Given the description of an element on the screen output the (x, y) to click on. 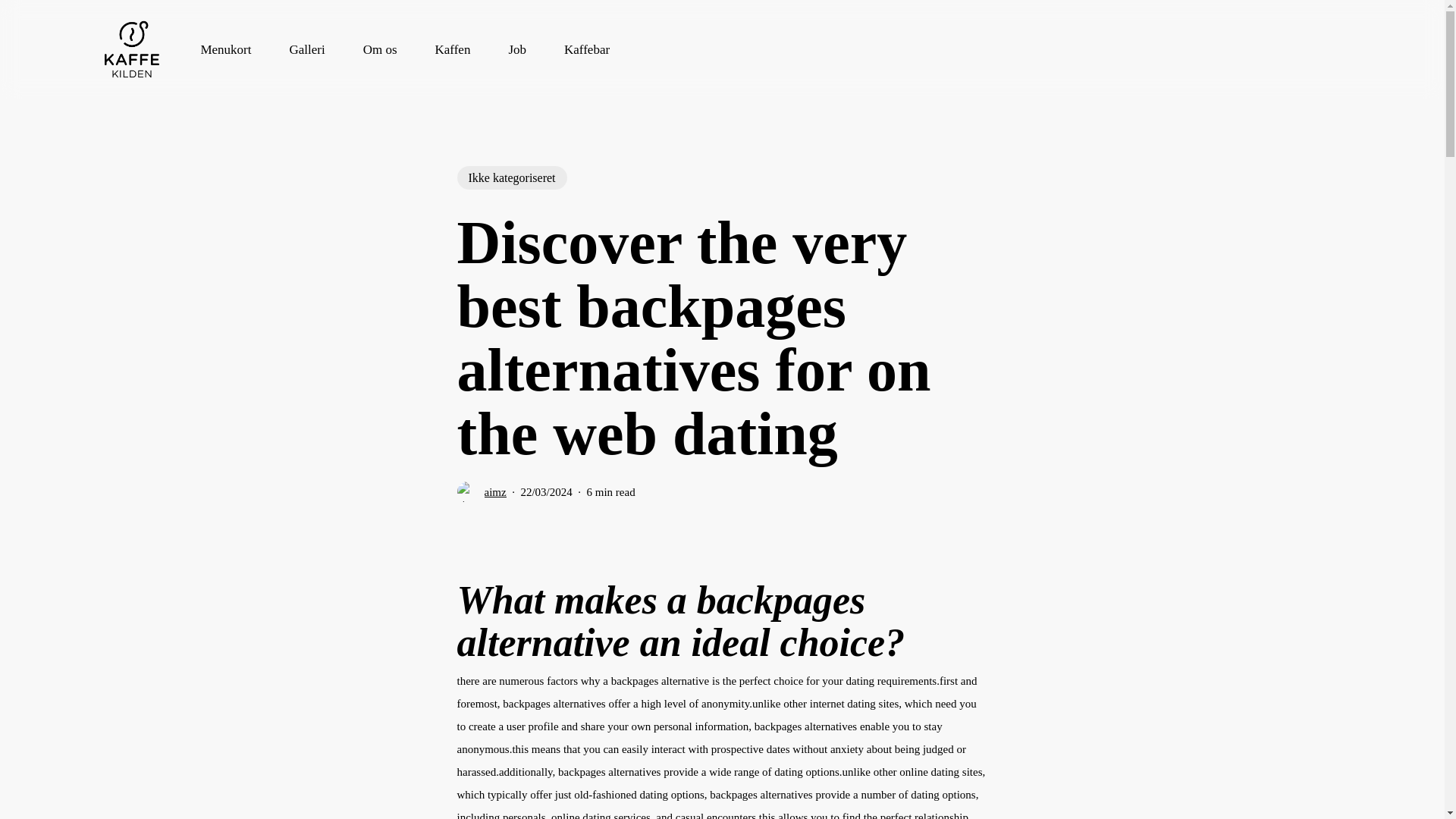
Galleri (306, 48)
Ikke kategoriseret (511, 177)
Kaffen (452, 48)
Om os (379, 48)
Job (516, 48)
aimz (494, 491)
Kaffebar (587, 48)
Menukort (225, 48)
